Given the description of an element on the screen output the (x, y) to click on. 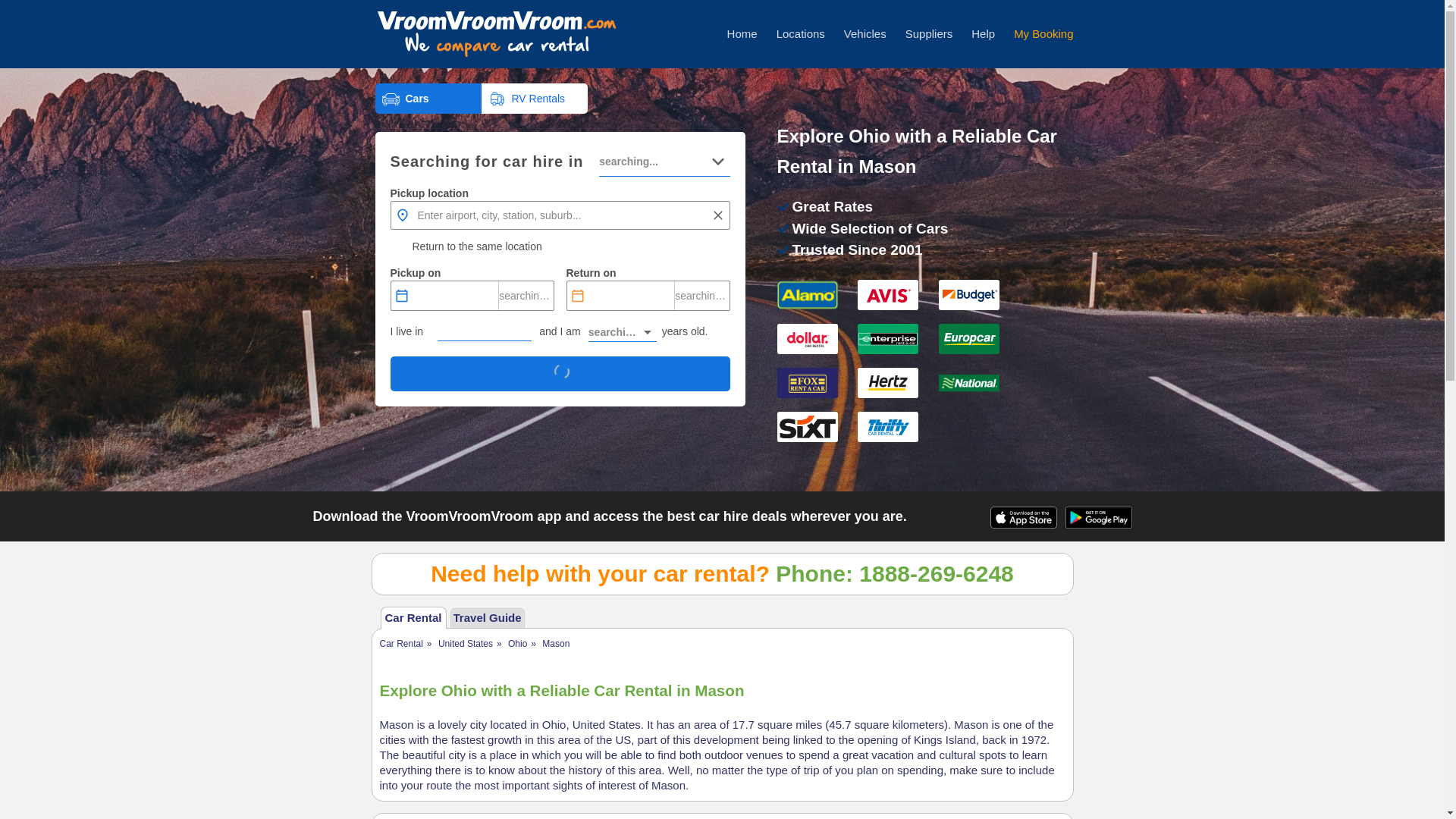
Suppliers (929, 33)
Help (982, 33)
Vehicles (865, 33)
Google App (1097, 523)
Home (741, 33)
IOS App (1023, 519)
My Booking (1043, 33)
Locations (800, 33)
on (398, 245)
